Given the description of an element on the screen output the (x, y) to click on. 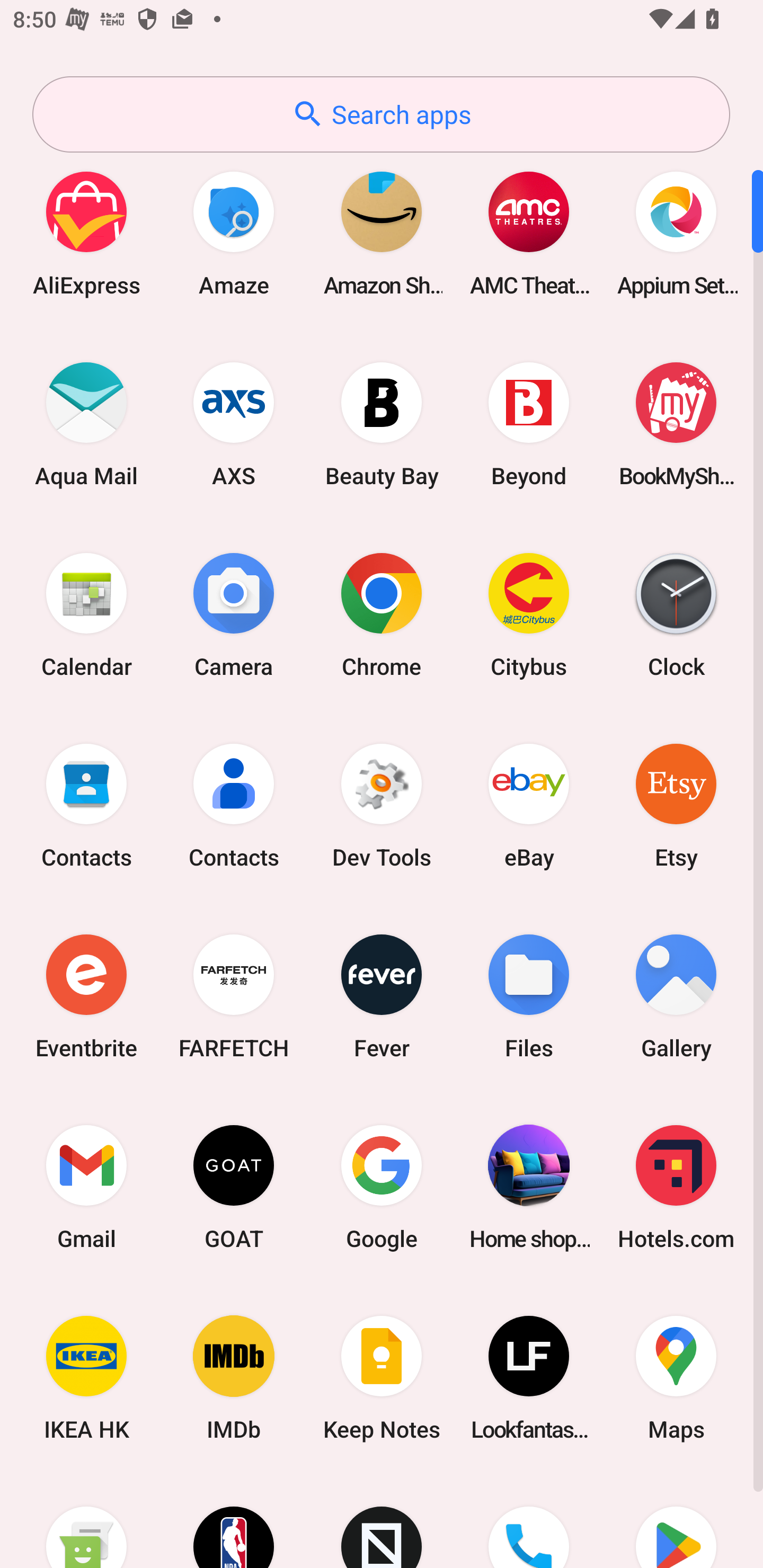
  Search apps (381, 114)
AliExpress (86, 233)
Amaze (233, 233)
Amazon Shopping (381, 233)
AMC Theatres (528, 233)
Appium Settings (676, 233)
Aqua Mail (86, 424)
AXS (233, 424)
Beauty Bay (381, 424)
Beyond (528, 424)
BookMyShow (676, 424)
Calendar (86, 614)
Camera (233, 614)
Chrome (381, 614)
Citybus (528, 614)
Clock (676, 614)
Contacts (86, 805)
Contacts (233, 805)
Dev Tools (381, 805)
eBay (528, 805)
Etsy (676, 805)
Eventbrite (86, 996)
FARFETCH (233, 996)
Fever (381, 996)
Files (528, 996)
Gallery (676, 996)
Gmail (86, 1186)
GOAT (233, 1186)
Google (381, 1186)
Home shopping (528, 1186)
Hotels.com (676, 1186)
IKEA HK (86, 1377)
IMDb (233, 1377)
Keep Notes (381, 1377)
Lookfantastic (528, 1377)
Maps (676, 1377)
Messaging (86, 1520)
NBA (233, 1520)
Novelship (381, 1520)
Phone (528, 1520)
Play Store (676, 1520)
